Given the description of an element on the screen output the (x, y) to click on. 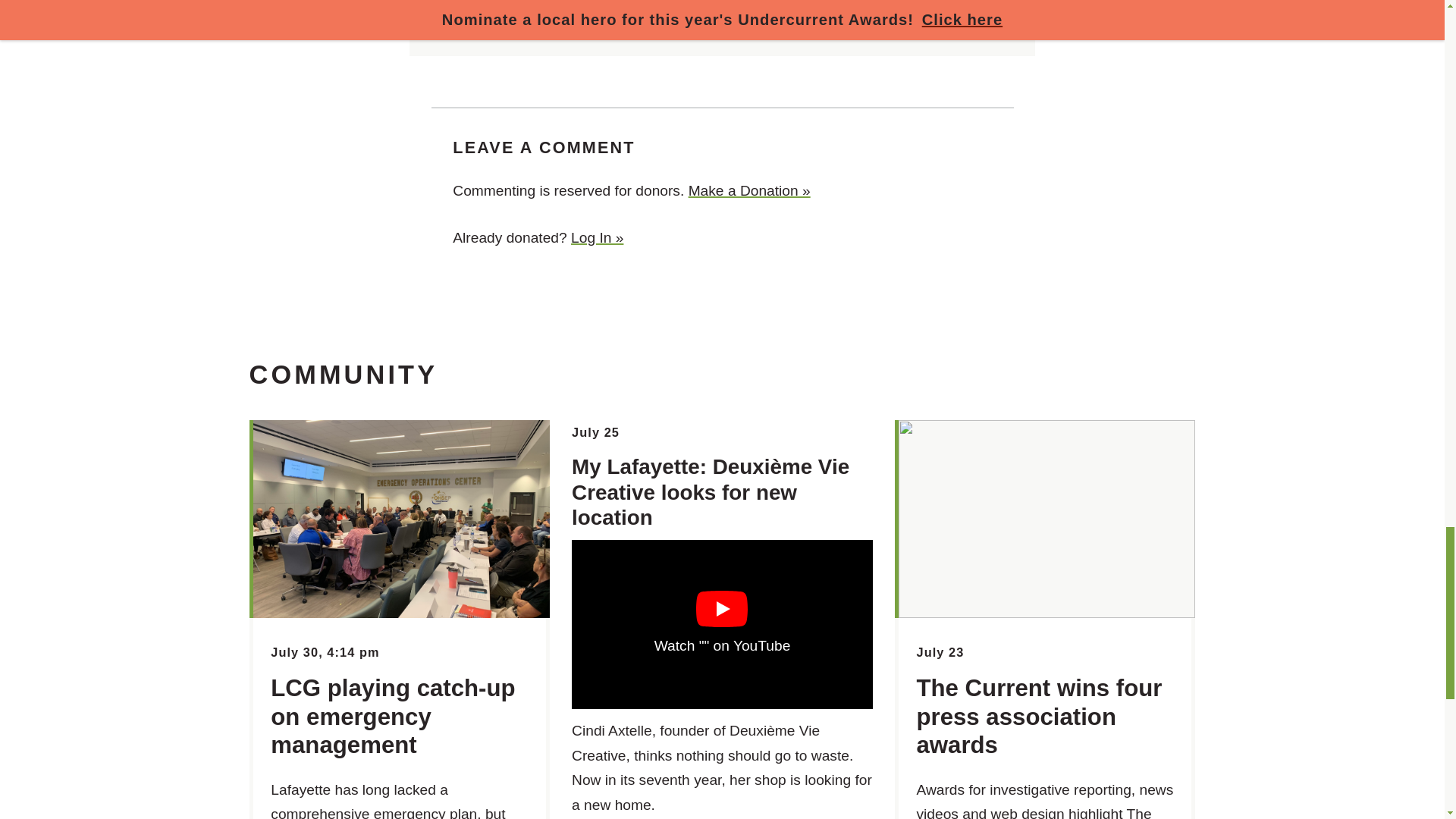
The Current wins four press association awards (1038, 716)
MORE ARTICLES (492, 15)
Watch "" on YouTube (722, 624)
LCG playing catch-up on emergency management (392, 716)
Published July 25, 2024 at 11:34 am (596, 431)
Published July 23, 2024 at 5:08 pm (939, 652)
Published July 30, 2024 at 4:14 pm (324, 652)
